Given the description of an element on the screen output the (x, y) to click on. 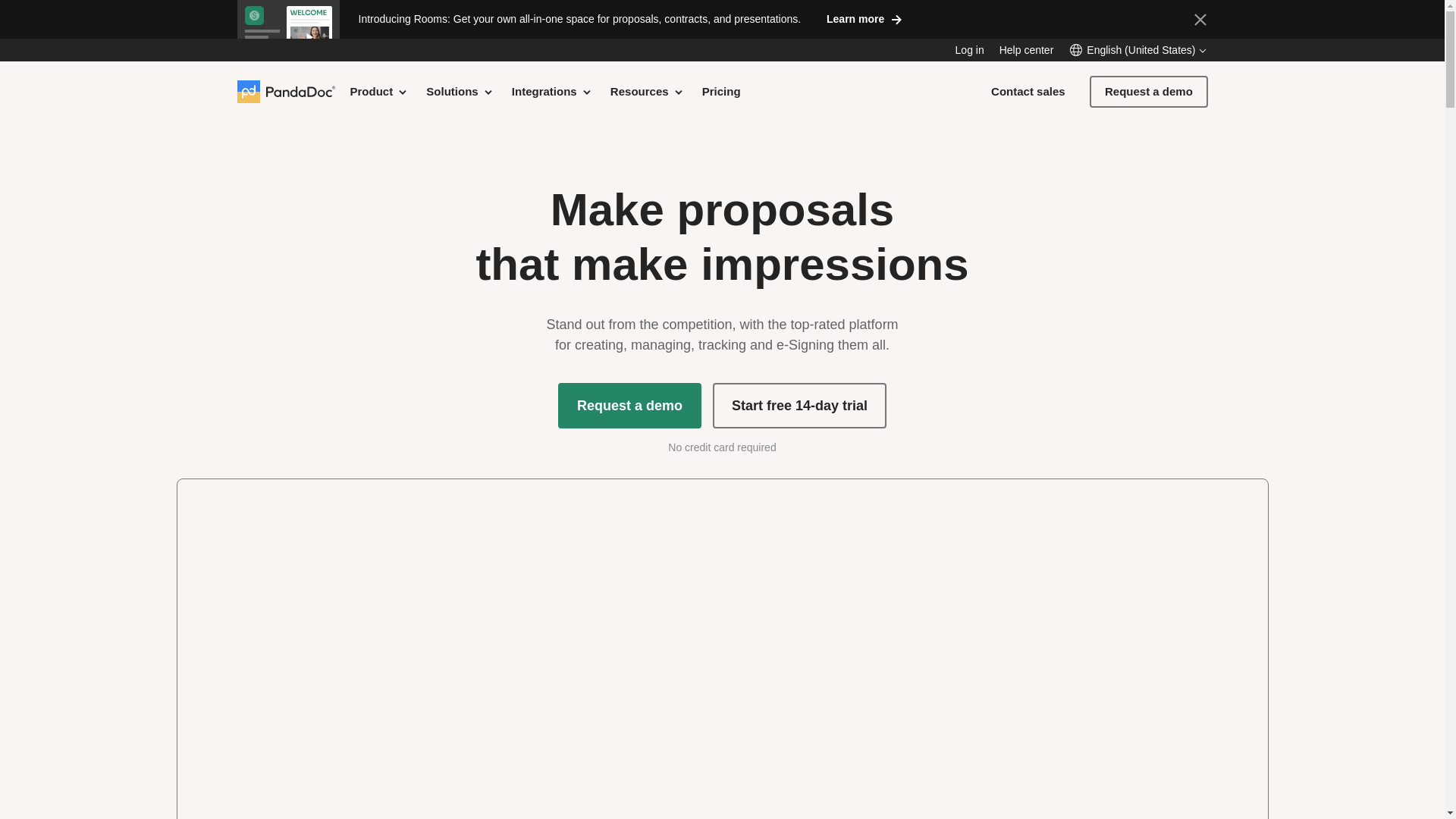
Help center (1026, 50)
Solutions (459, 91)
Learn more (864, 18)
Product (379, 91)
Log in (969, 50)
